Given the description of an element on the screen output the (x, y) to click on. 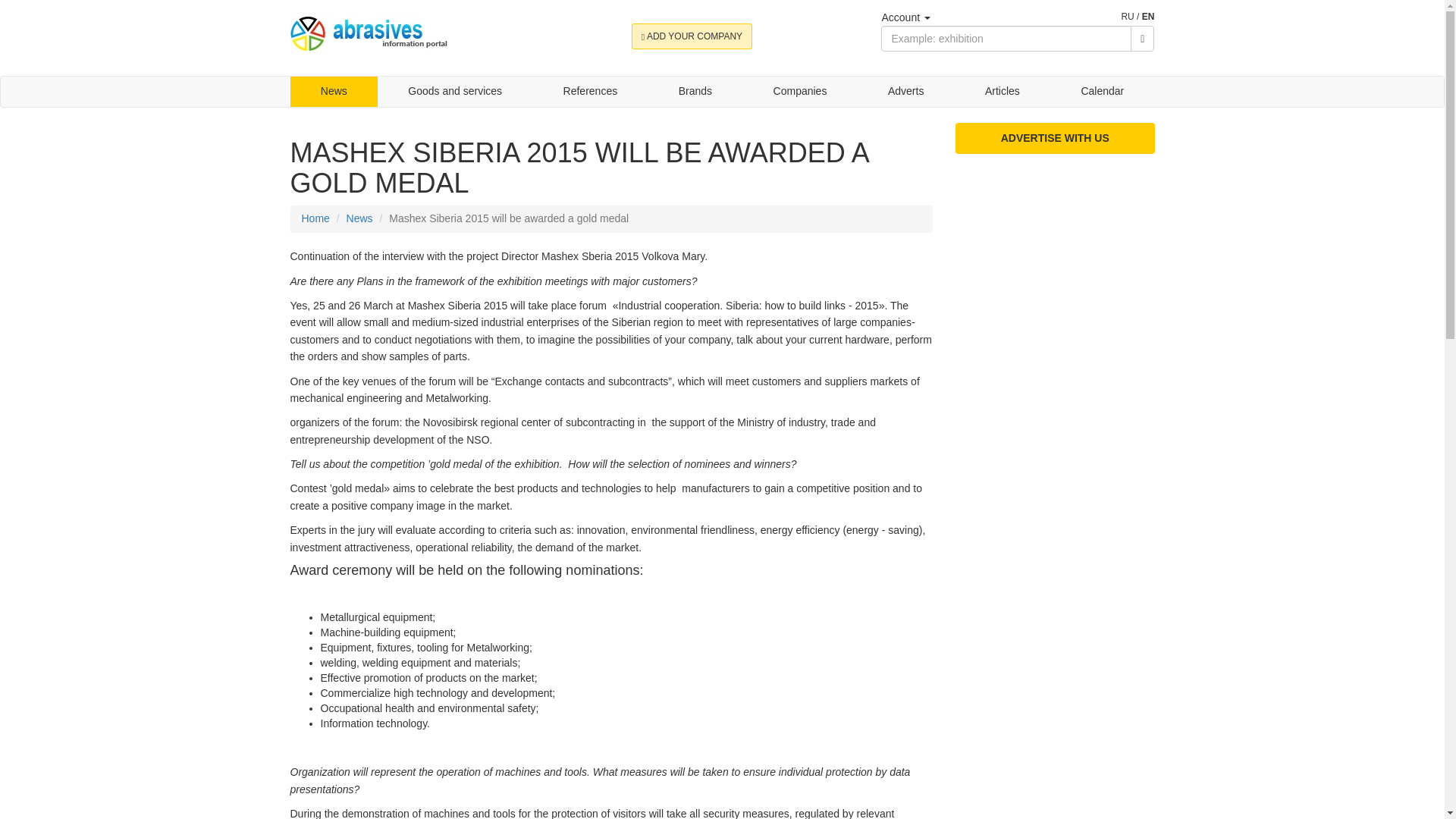
Articles (1002, 91)
News (333, 91)
RU (1127, 16)
Companies (799, 91)
Adverts (906, 91)
Articles (1002, 91)
Calendar (1101, 91)
News (359, 218)
Home (315, 218)
References (589, 91)
